Given the description of an element on the screen output the (x, y) to click on. 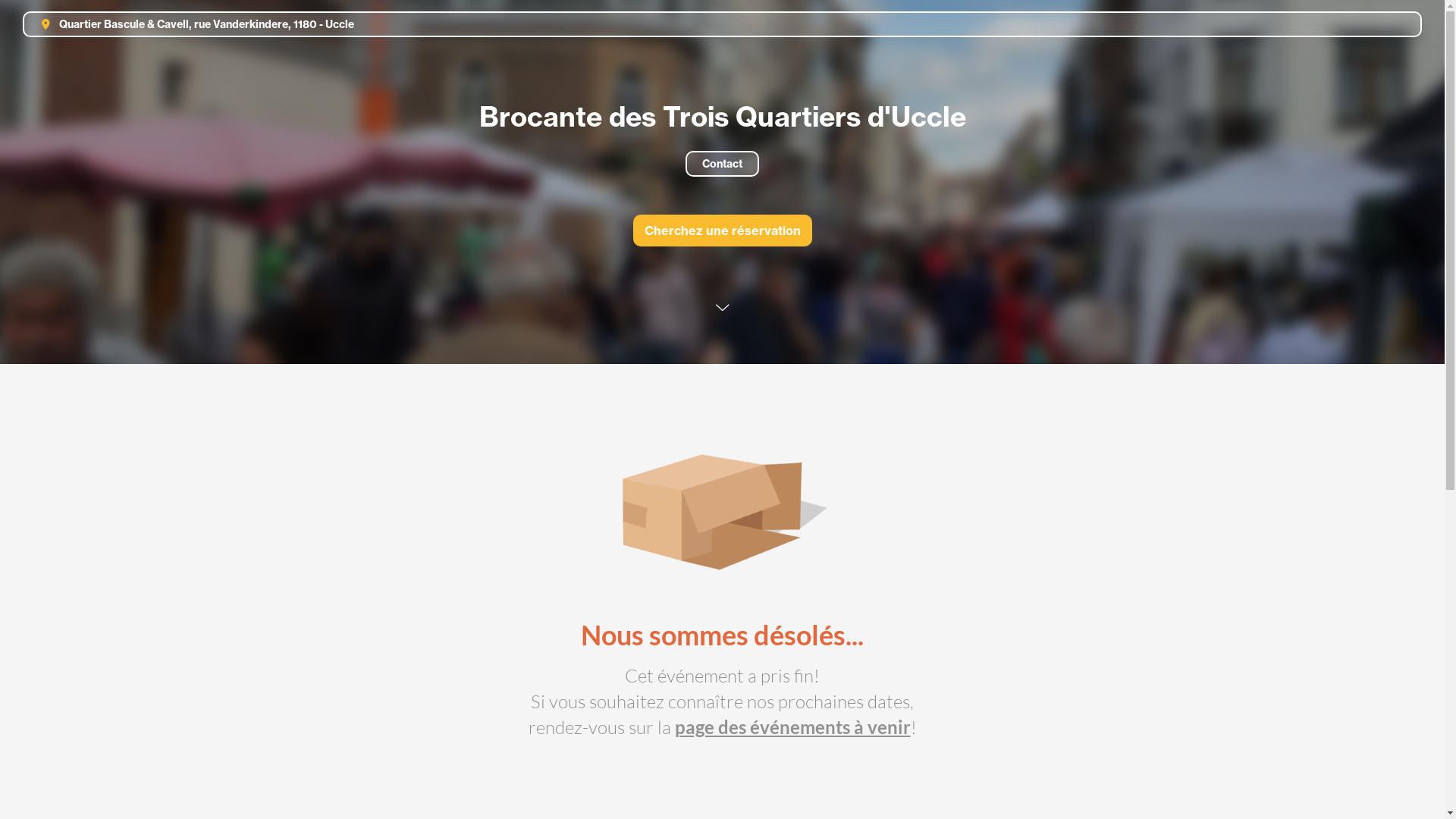
Contact Element type: text (722, 163)
Quartier Bascule & Cavell, rue Vanderkindere, 1180 - Uccle Element type: text (191, 24)
